Given the description of an element on the screen output the (x, y) to click on. 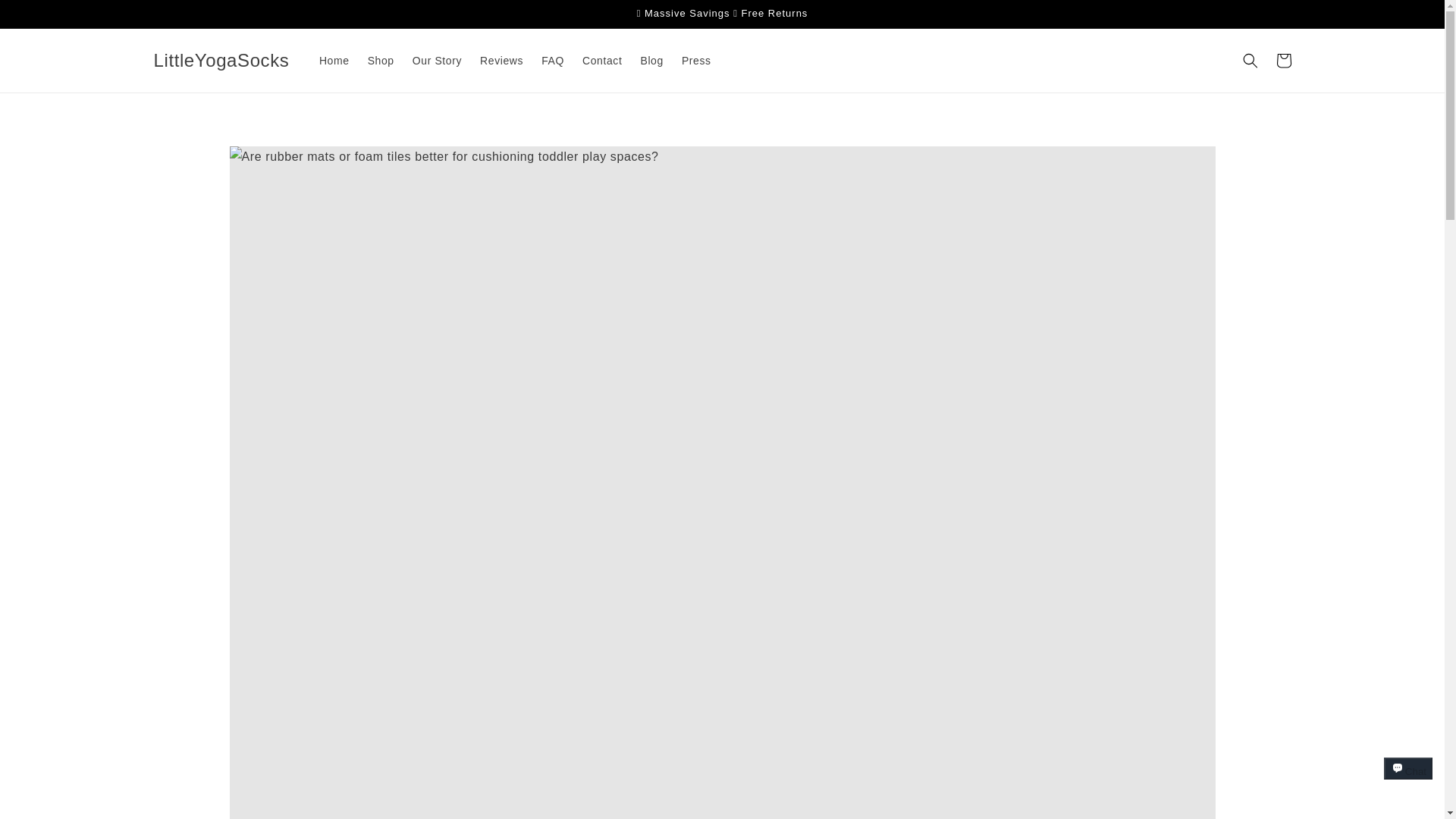
Reviews (501, 60)
Shop (380, 60)
Shopify online store chat (1408, 781)
Press (696, 60)
Home (334, 60)
FAQ (552, 60)
Contact (601, 60)
LittleYogaSocks (221, 60)
Cart (1283, 60)
Our Story (436, 60)
